Given the description of an element on the screen output the (x, y) to click on. 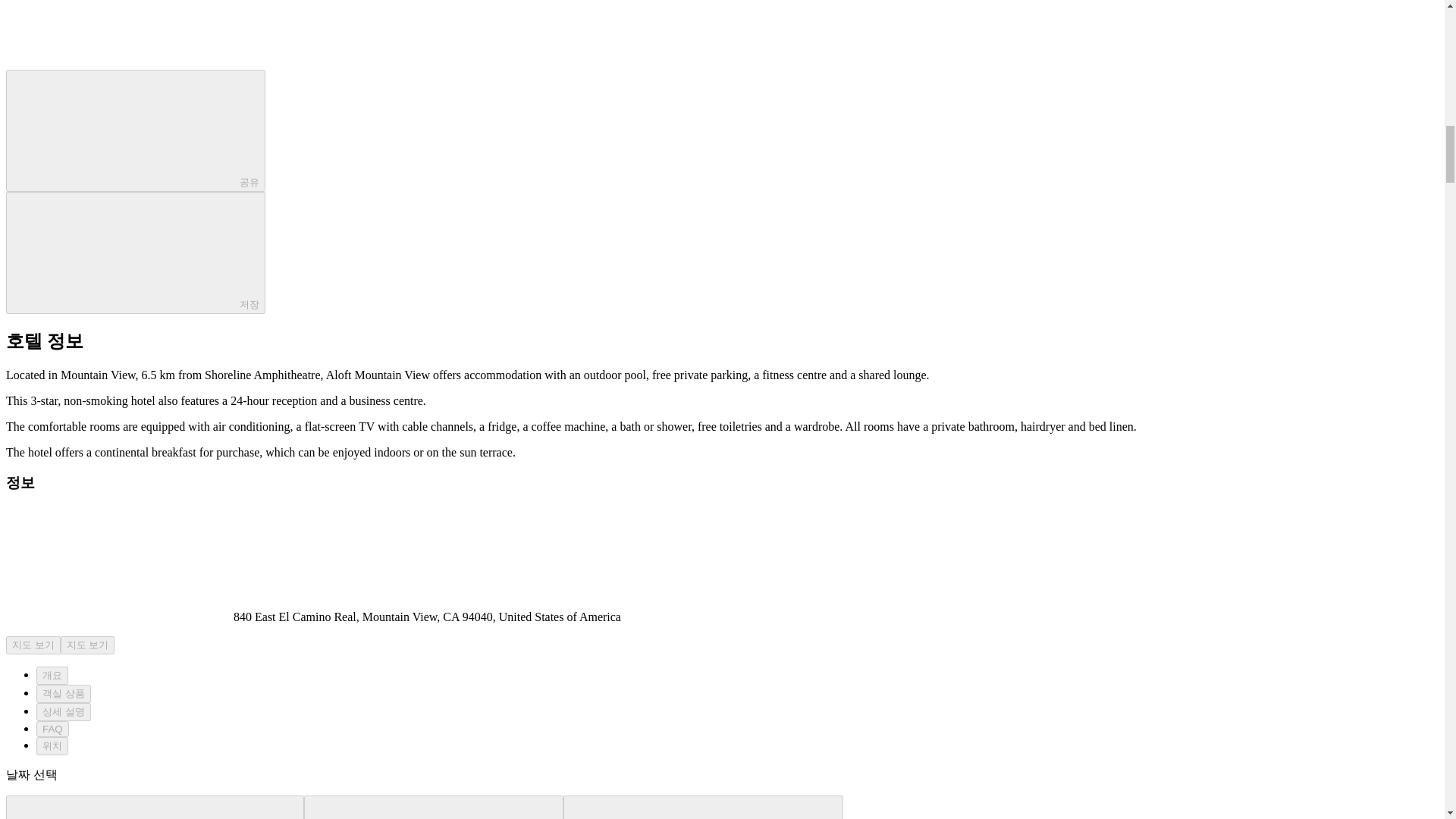
Previous day (154, 807)
FAQ (52, 729)
Next day (703, 807)
